Given the description of an element on the screen output the (x, y) to click on. 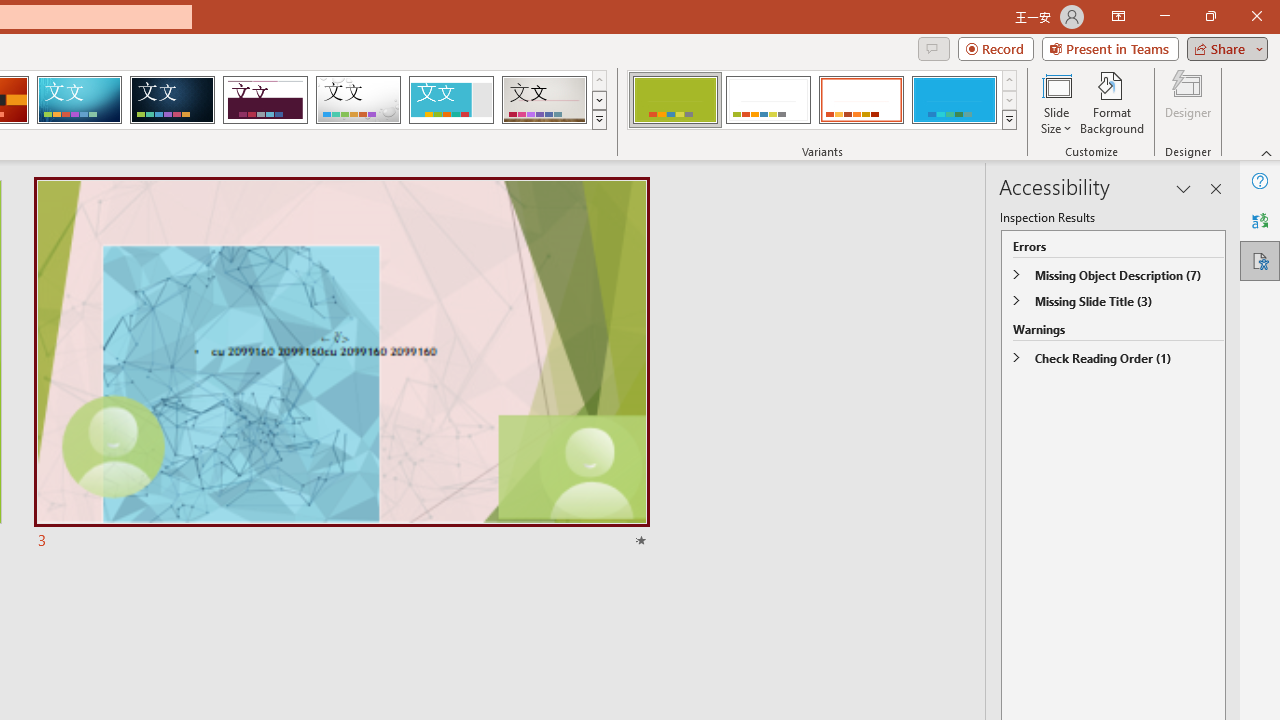
Droplet (358, 100)
Variants (1009, 120)
Themes (598, 120)
